Given the description of an element on the screen output the (x, y) to click on. 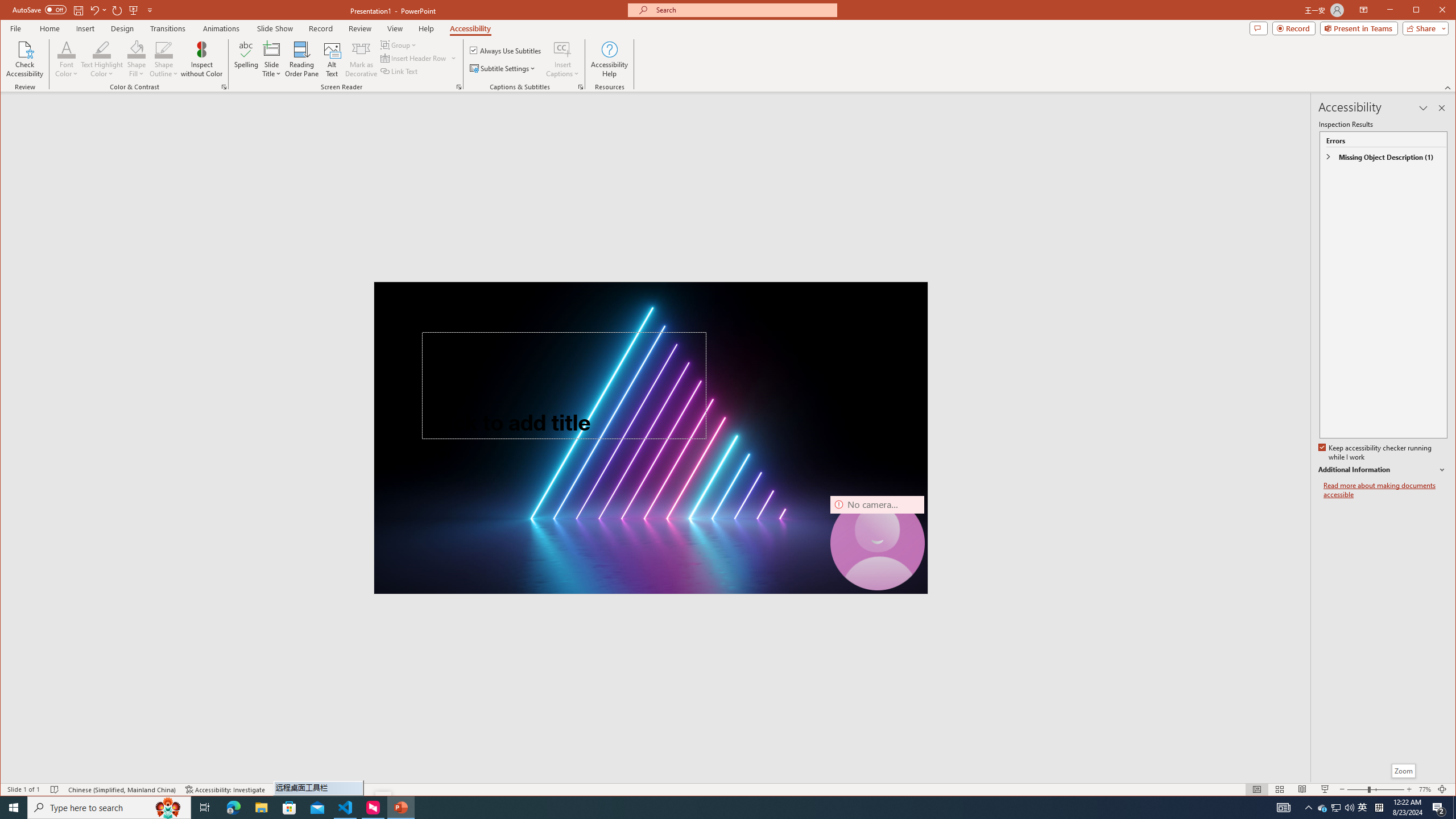
Always Use Subtitles (505, 49)
Captions & Subtitles (580, 86)
Mark as Decorative (360, 59)
Color & Contrast (223, 86)
